Given the description of an element on the screen output the (x, y) to click on. 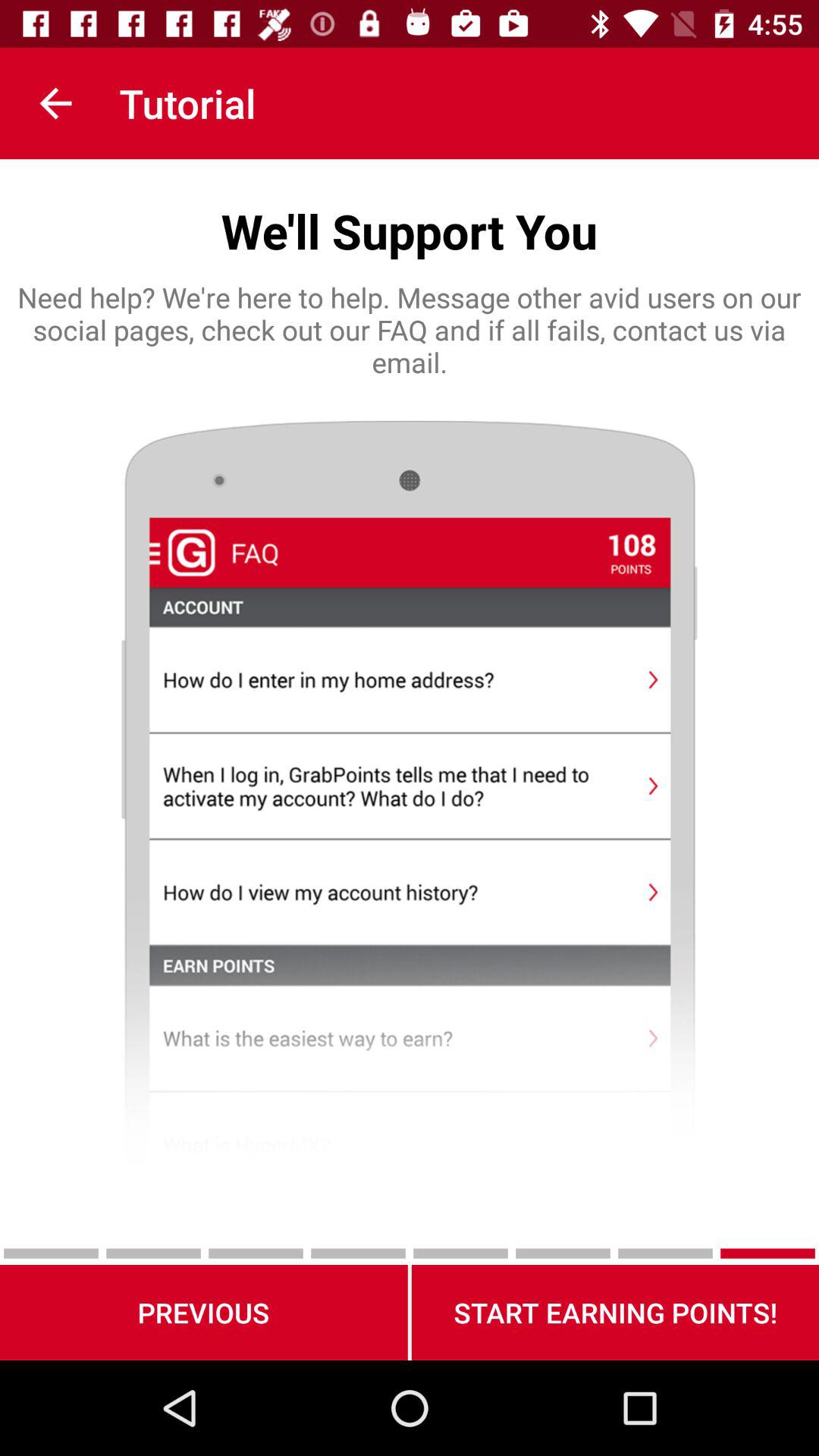
flip until the previous (203, 1312)
